Given the description of an element on the screen output the (x, y) to click on. 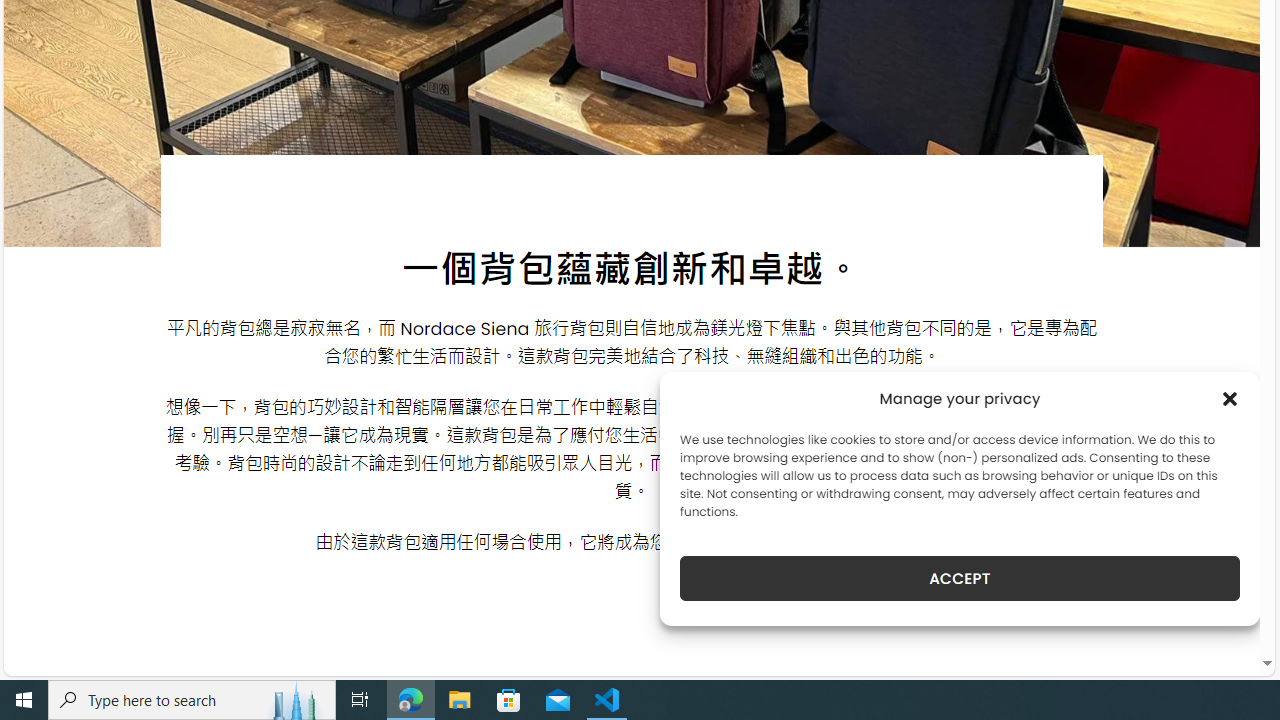
Class: cmplz-close (1229, 398)
ACCEPT (959, 578)
